Given the description of an element on the screen output the (x, y) to click on. 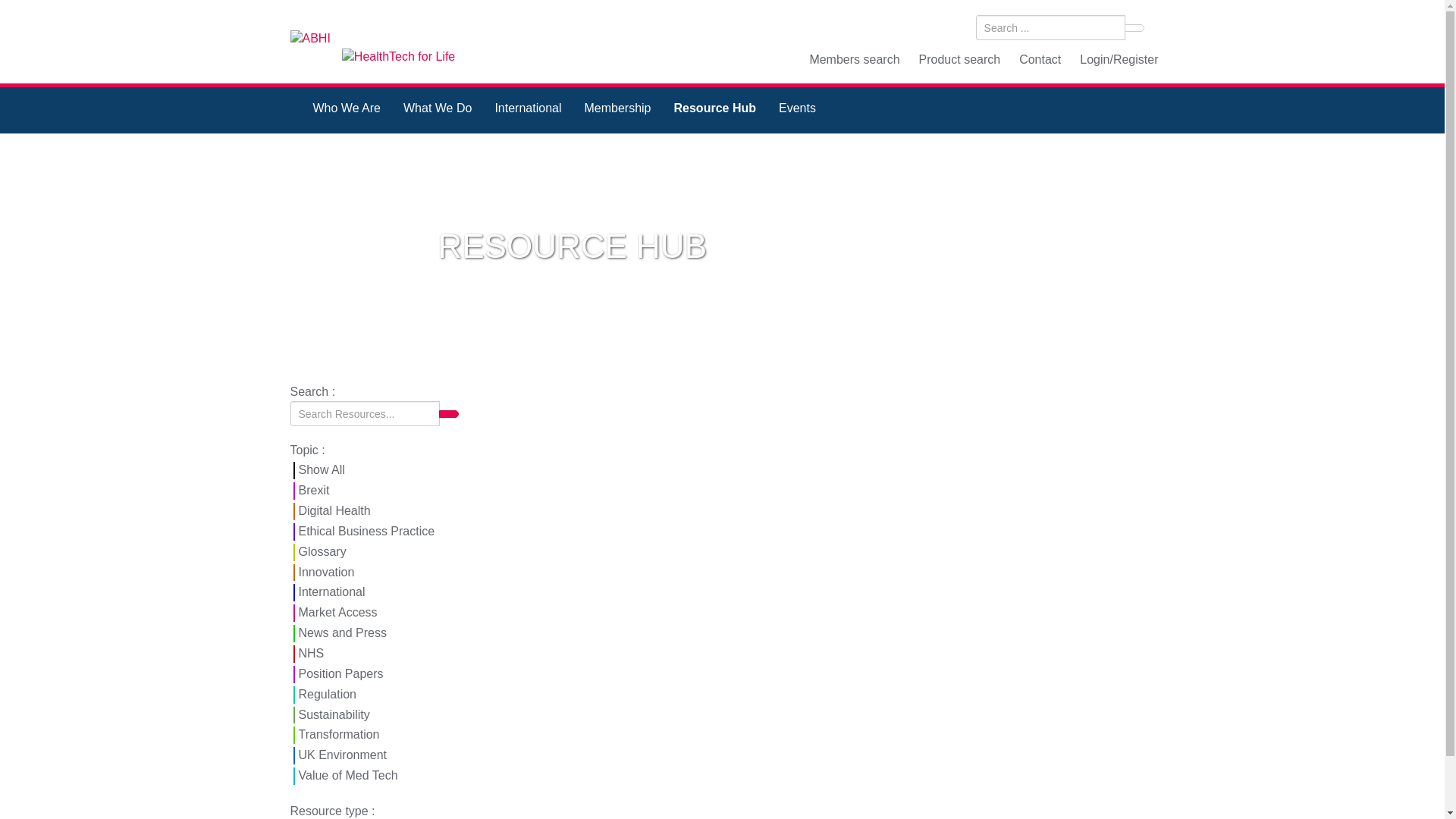
Product search (959, 59)
Resource Hub (714, 109)
Who We Are (347, 109)
Membership (617, 109)
What We Do (437, 109)
International (527, 109)
Contact (1040, 59)
Members search (854, 59)
Events (797, 109)
